Given the description of an element on the screen output the (x, y) to click on. 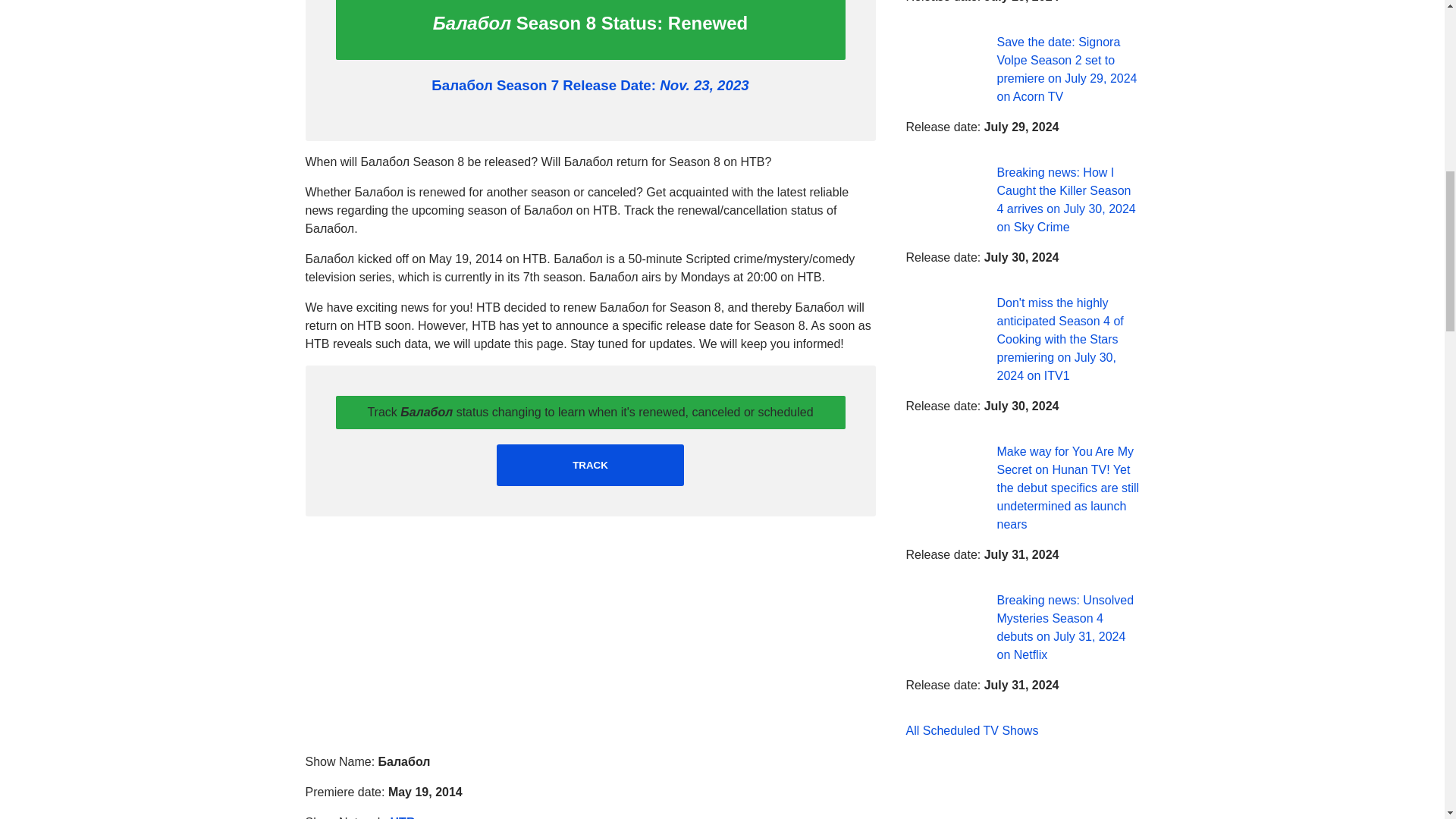
Advertisement (589, 634)
TRACK (590, 465)
